Given the description of an element on the screen output the (x, y) to click on. 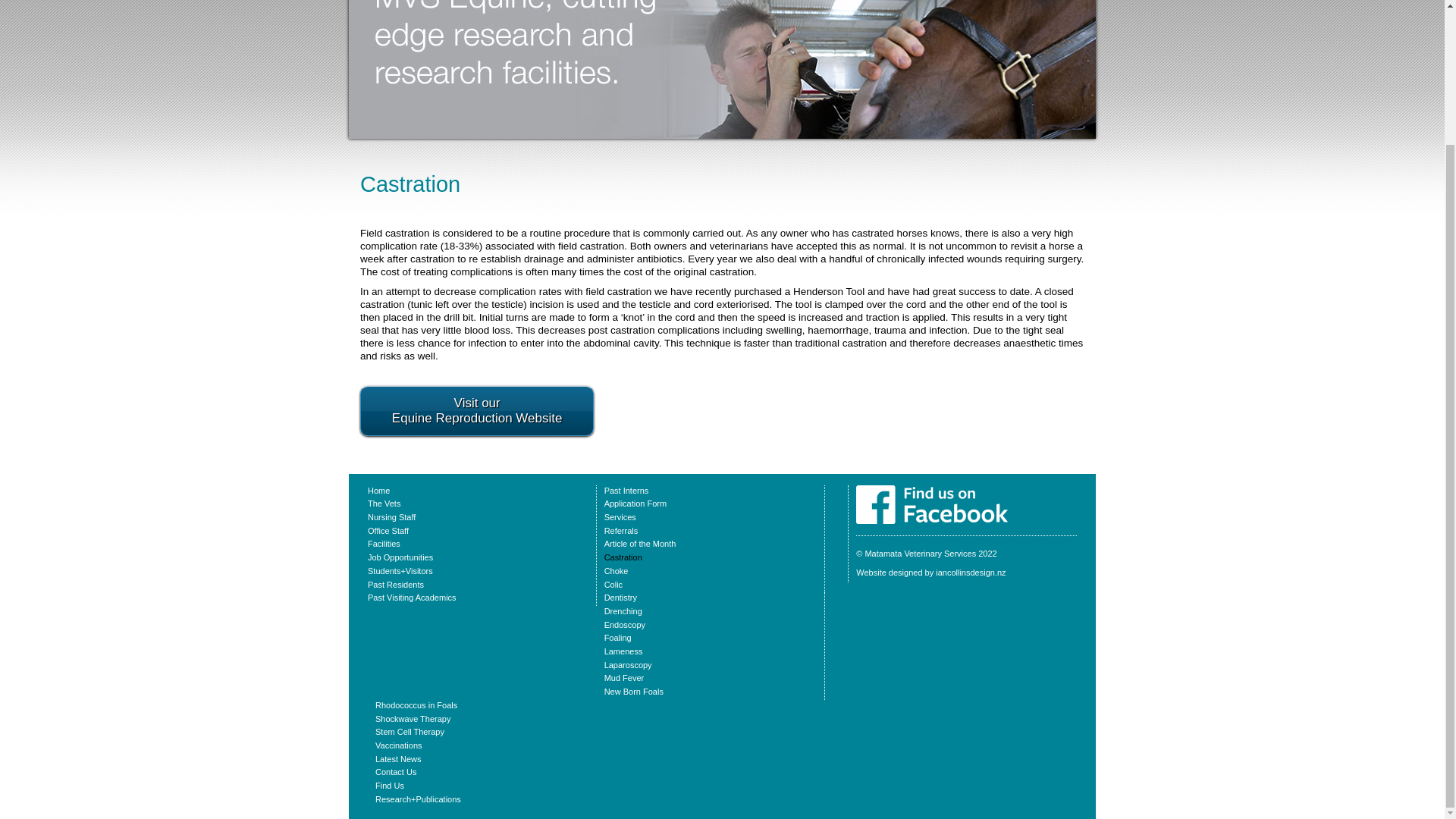
Ian Collins Design (931, 572)
MVS Equine (931, 491)
